Given the description of an element on the screen output the (x, y) to click on. 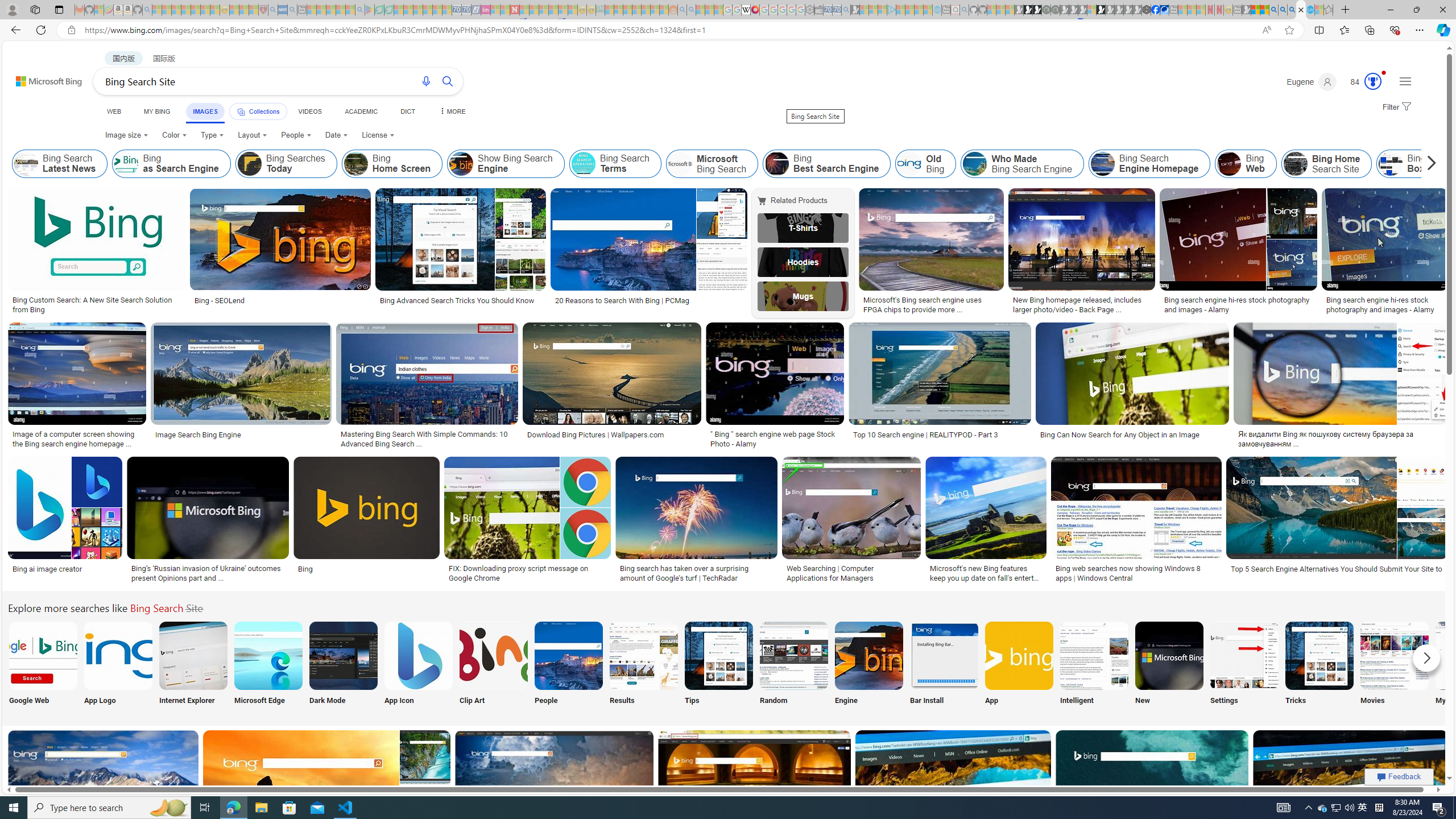
Bing Search App Logo (118, 654)
Bing Mugs (802, 296)
MY BING (156, 111)
DICT (407, 111)
Bing Home Screen (392, 163)
Internet Explorer Bing Search (192, 654)
Bing Search Terms (582, 163)
AutomationID: serp_medal_svg (1372, 81)
Image size (126, 135)
